Given the description of an element on the screen output the (x, y) to click on. 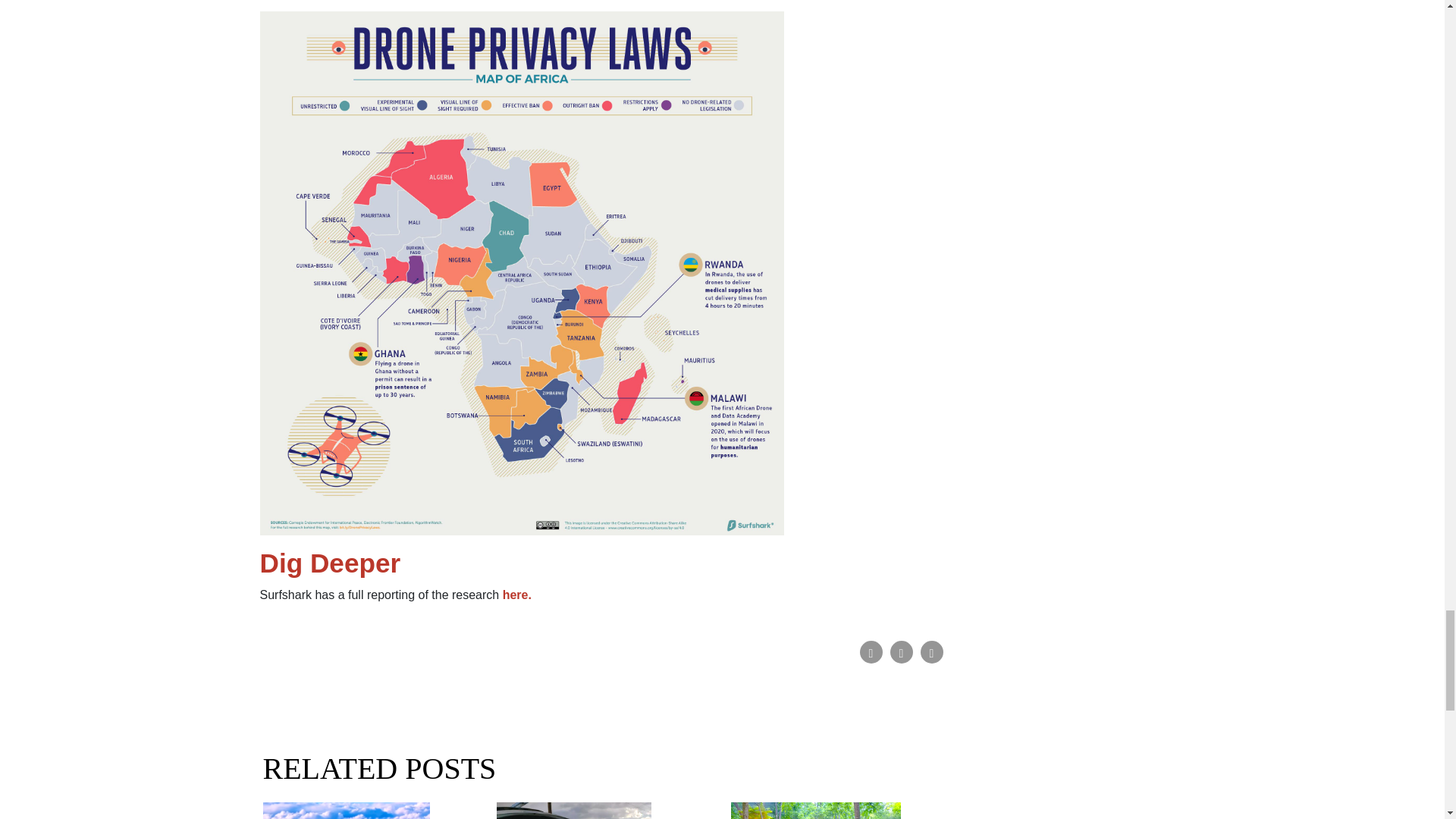
Share on Twitter (900, 651)
Share on Linkedin (931, 651)
Share on Facebook (871, 651)
